Given the description of an element on the screen output the (x, y) to click on. 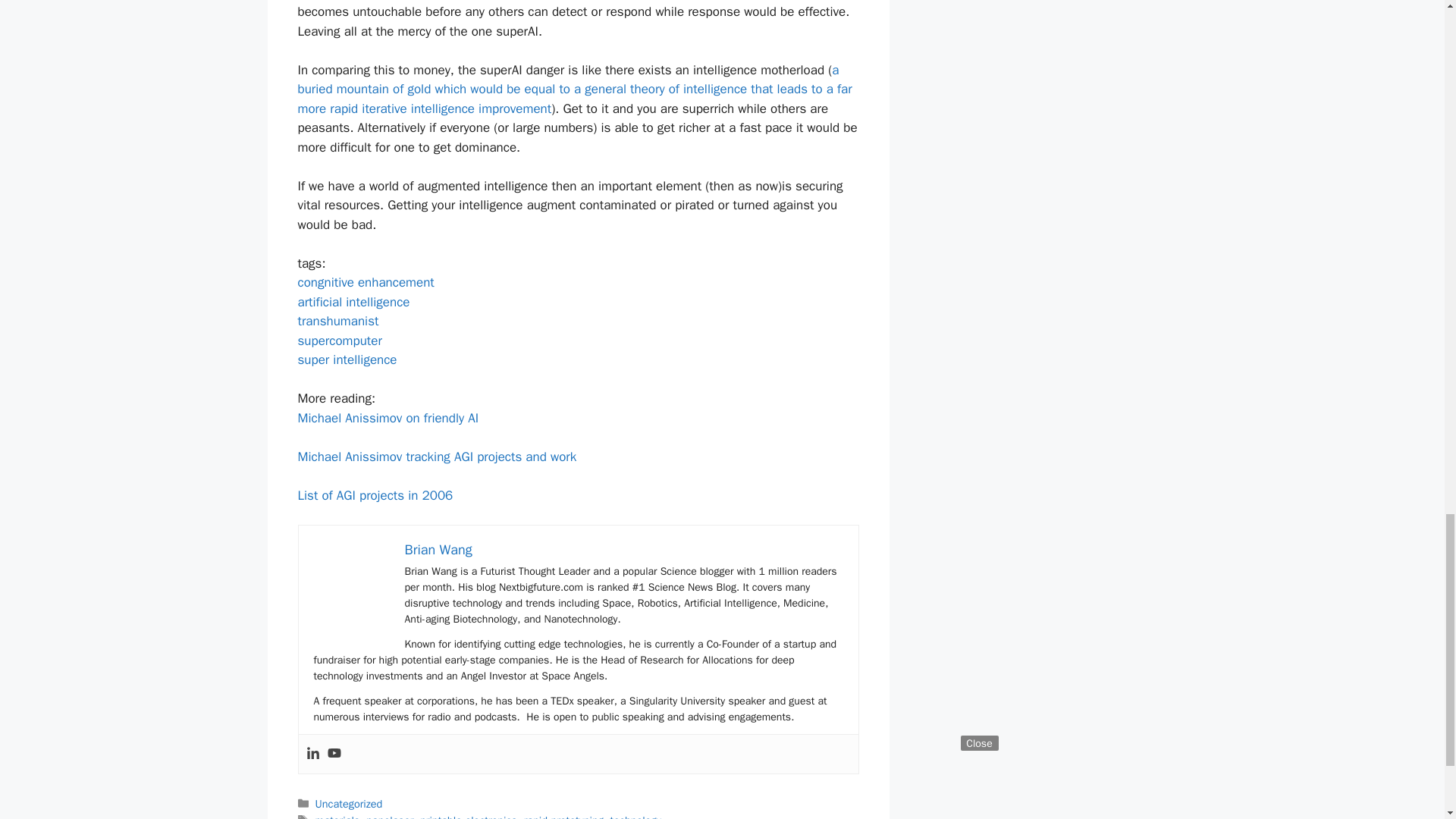
artificial intelligence (353, 302)
transhumanist (337, 320)
congnitive enhancement (365, 282)
supercomputer (339, 340)
super intelligence (346, 359)
